Given the description of an element on the screen output the (x, y) to click on. 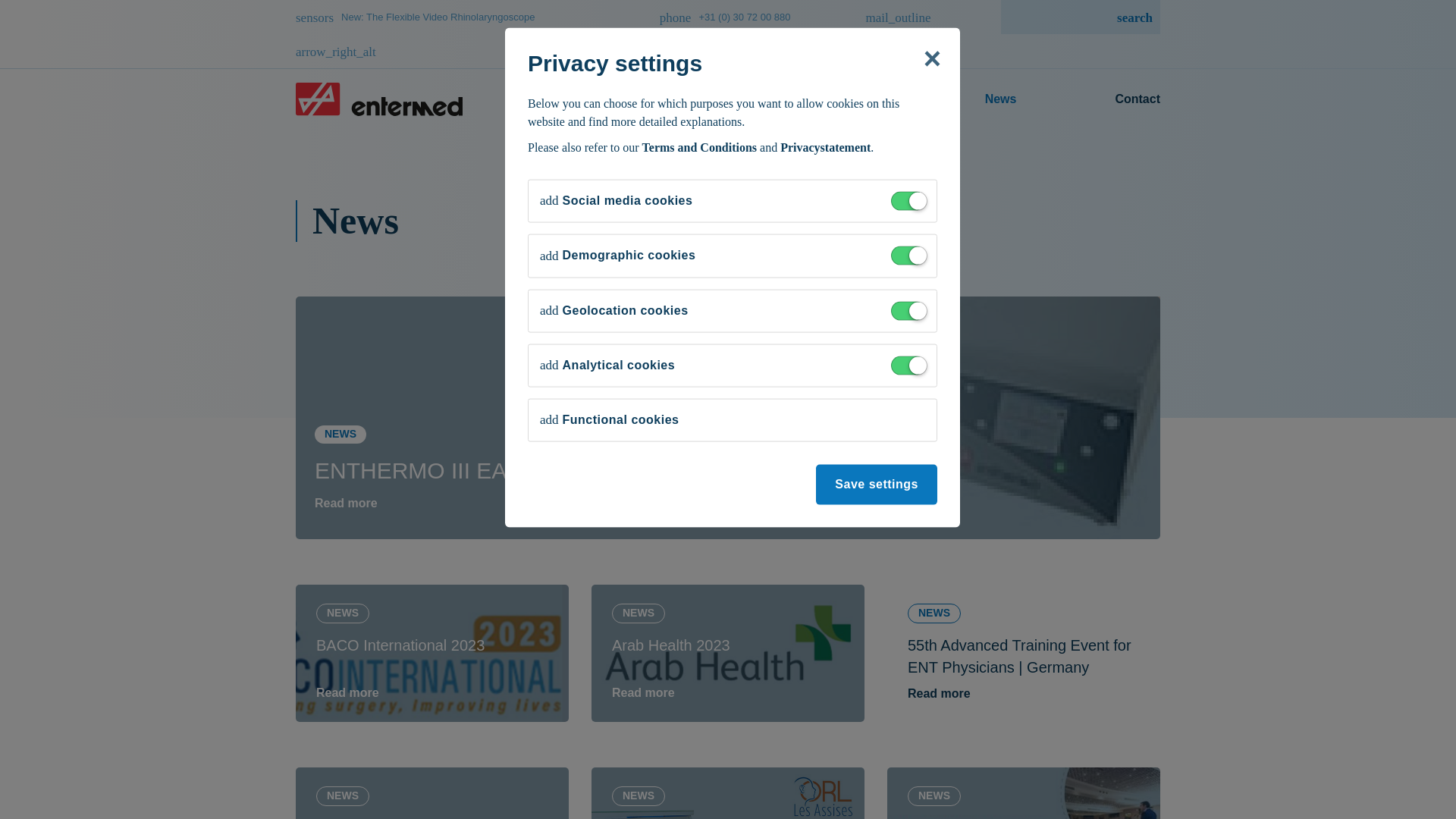
Products (720, 98)
Privacystatement (825, 146)
addSocial media cookies (616, 200)
Email us (874, 33)
addGeolocation cookies (614, 310)
Terms and Conditions (699, 146)
Call us (690, 17)
Terms and Conditions (699, 146)
About us (859, 98)
News (1000, 98)
Privacystatement (825, 146)
addAnalytical cookies (607, 364)
addFunctional cookies (609, 420)
Save settings (876, 485)
Contact (1131, 98)
